Given the description of an element on the screen output the (x, y) to click on. 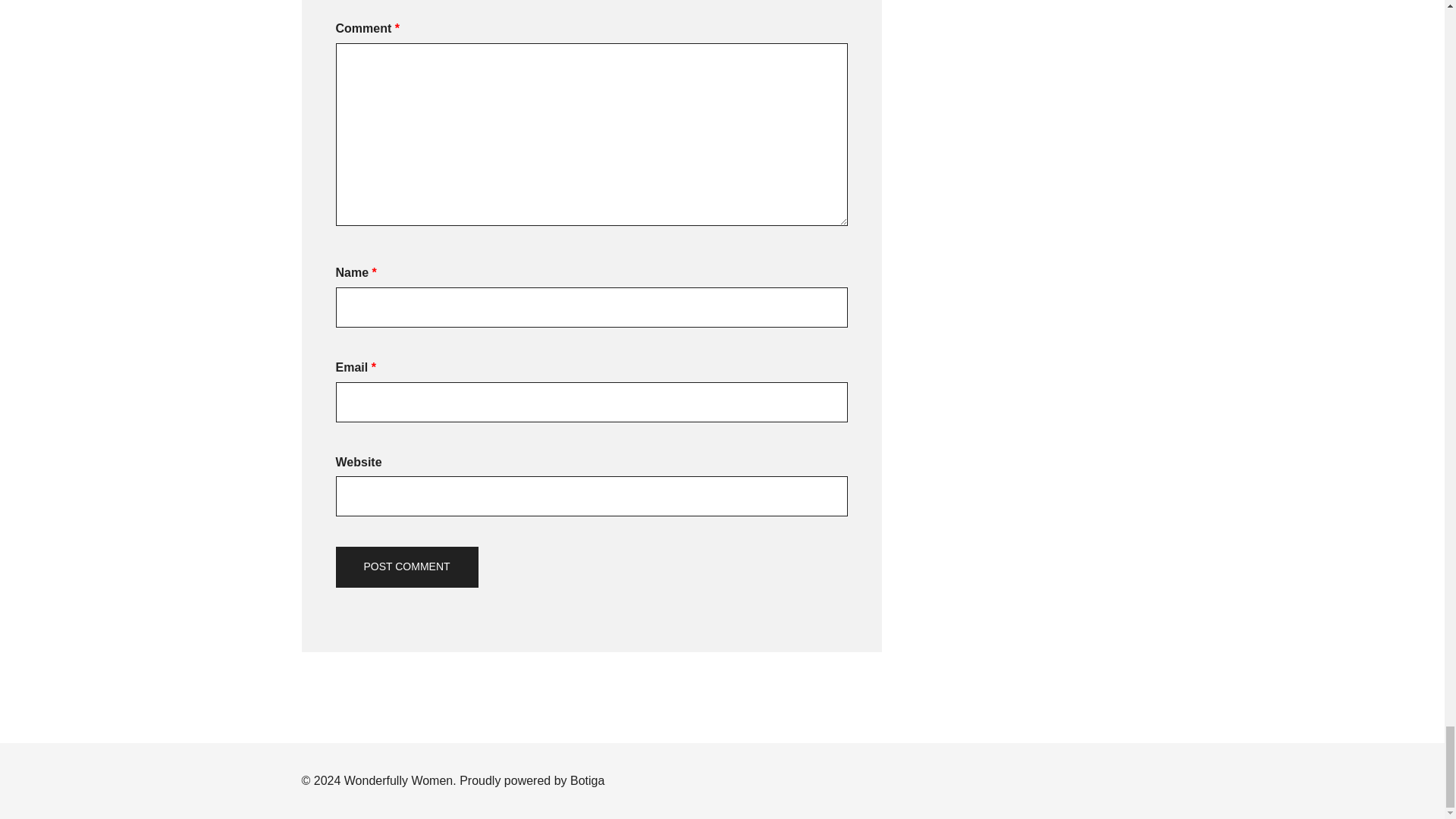
Post Comment (405, 567)
